Given the description of an element on the screen output the (x, y) to click on. 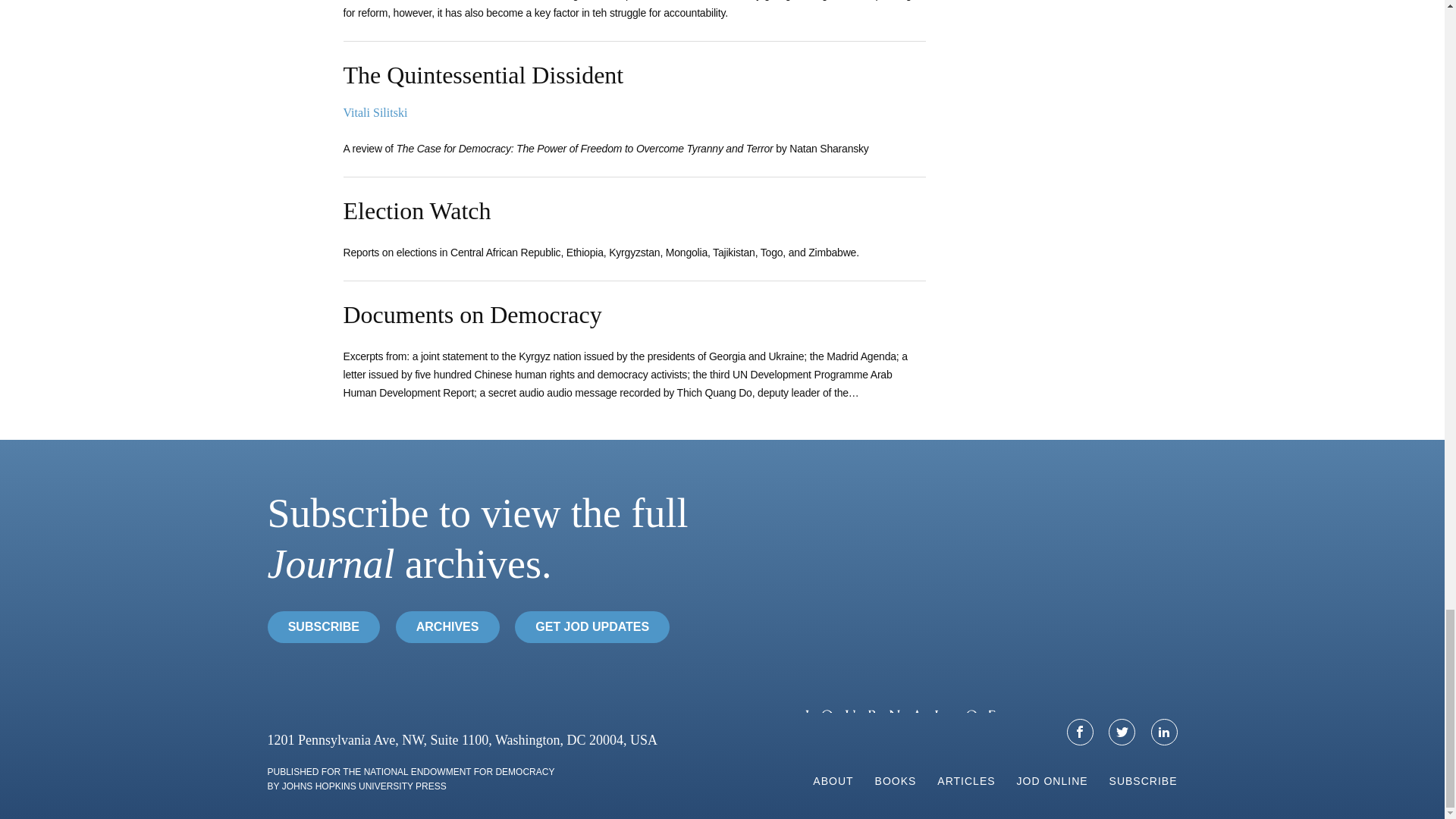
Facebook (1080, 732)
Twitter (1121, 732)
facebook (1080, 731)
twitter (1122, 731)
LinkedIn (1164, 732)
linkedin (1163, 731)
